Given the description of an element on the screen output the (x, y) to click on. 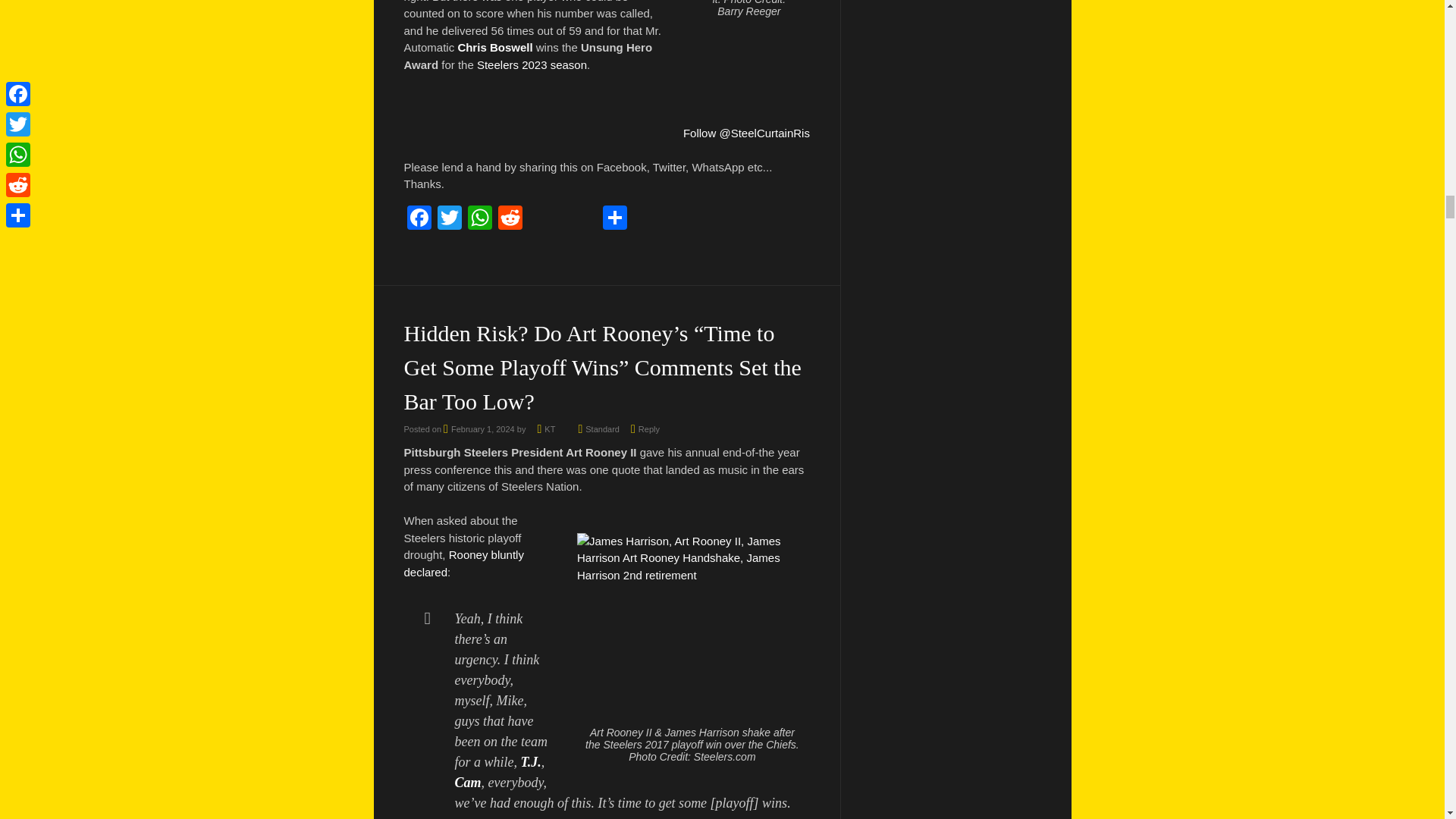
Facebook (418, 219)
Twitter (448, 219)
WhatsApp (479, 219)
